Given the description of an element on the screen output the (x, y) to click on. 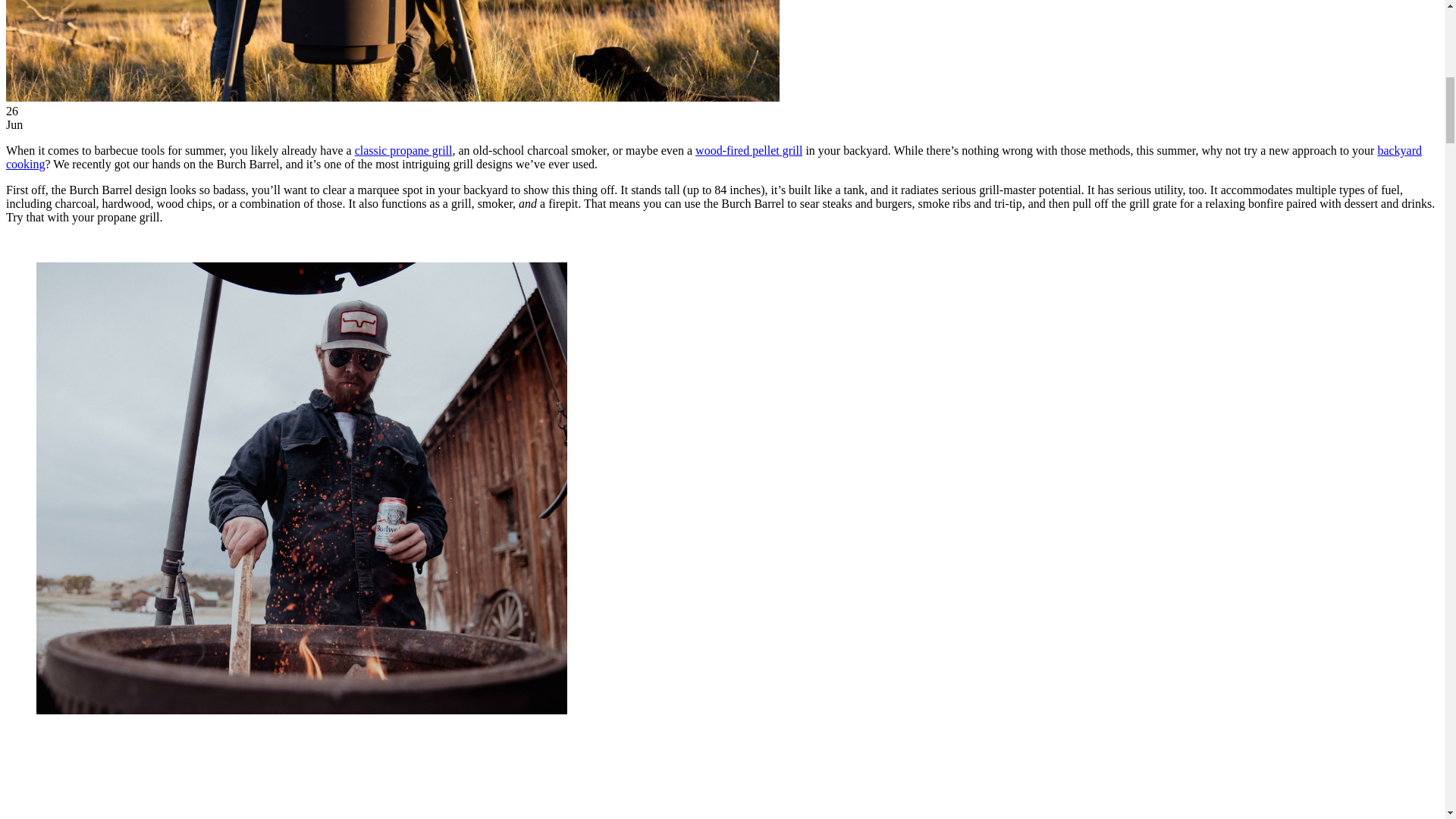
classic propane grill (403, 150)
wood-fired pellet grill (748, 150)
backyard cooking (713, 157)
